Given the description of an element on the screen output the (x, y) to click on. 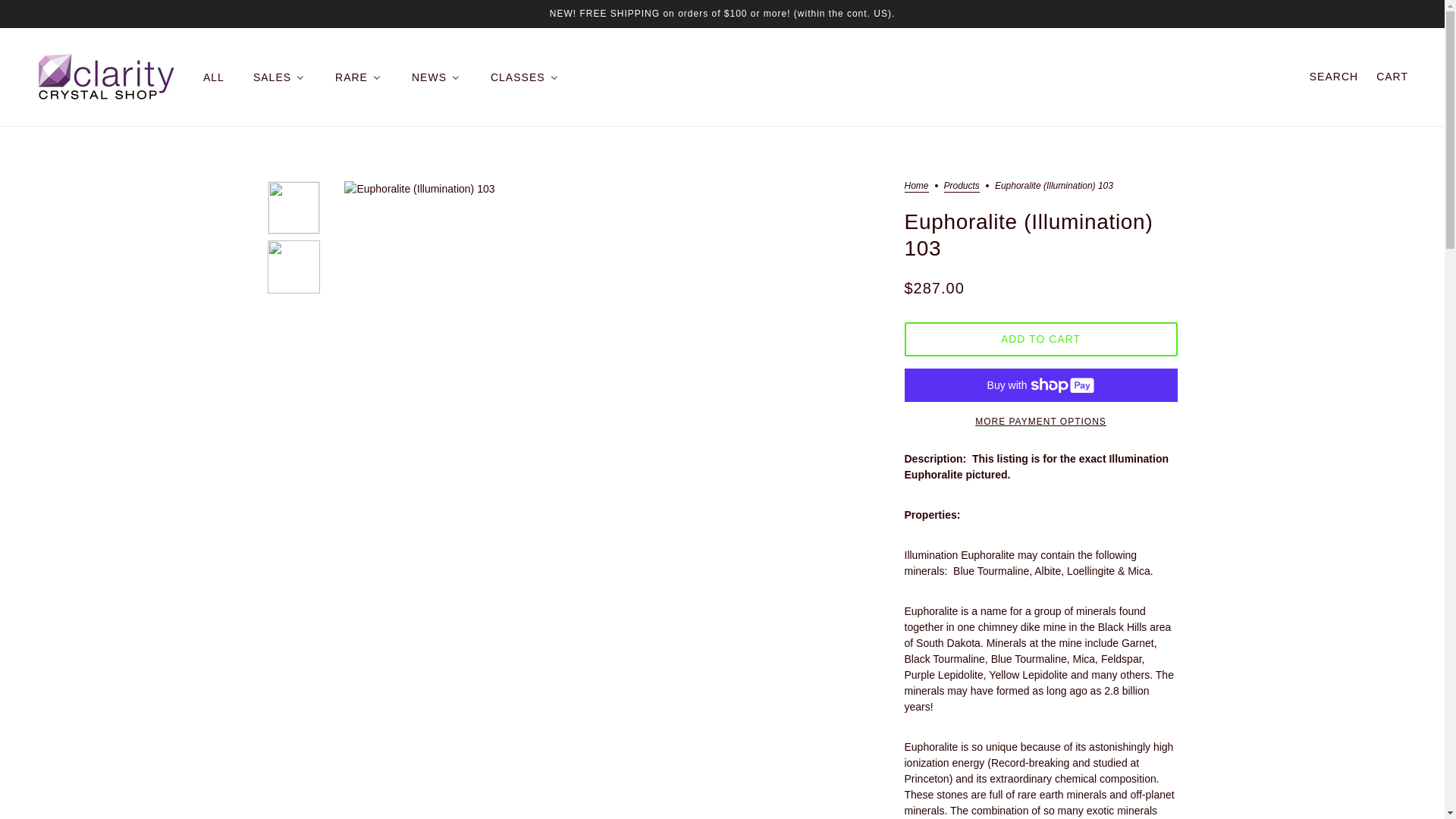
NEWS (436, 76)
CLASSES (524, 76)
RARE (358, 76)
Clarity Crystal Shop (106, 76)
SALES (279, 76)
ALL (212, 76)
